Given the description of an element on the screen output the (x, y) to click on. 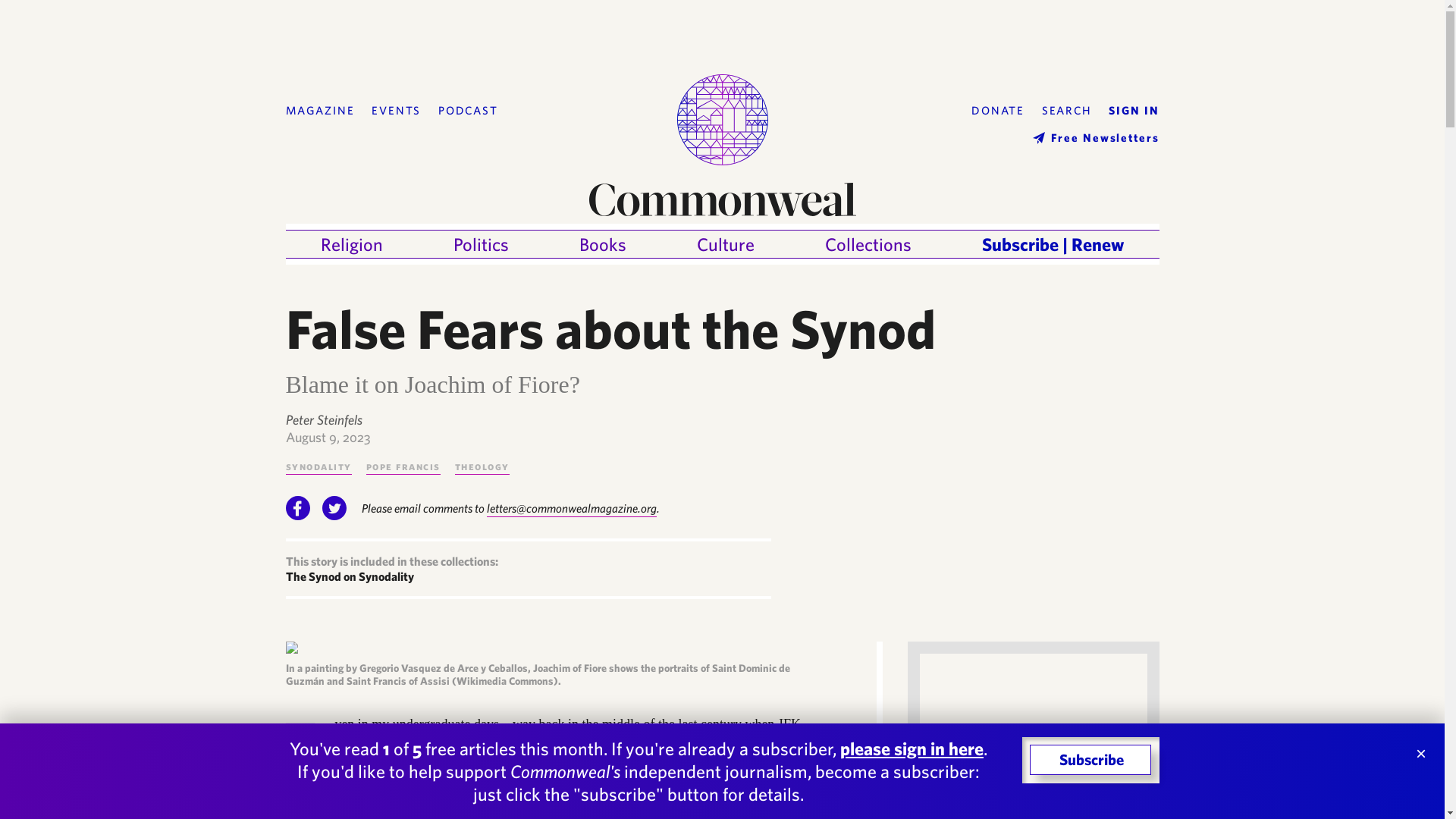
Renew (1097, 243)
Politics (480, 243)
Theology (481, 465)
DONATE (998, 111)
PODCAST (467, 111)
EVENTS (395, 111)
Collections (868, 243)
3rd party ad content (1032, 736)
Synodality (317, 465)
SIGN IN (1133, 111)
